Given the description of an element on the screen output the (x, y) to click on. 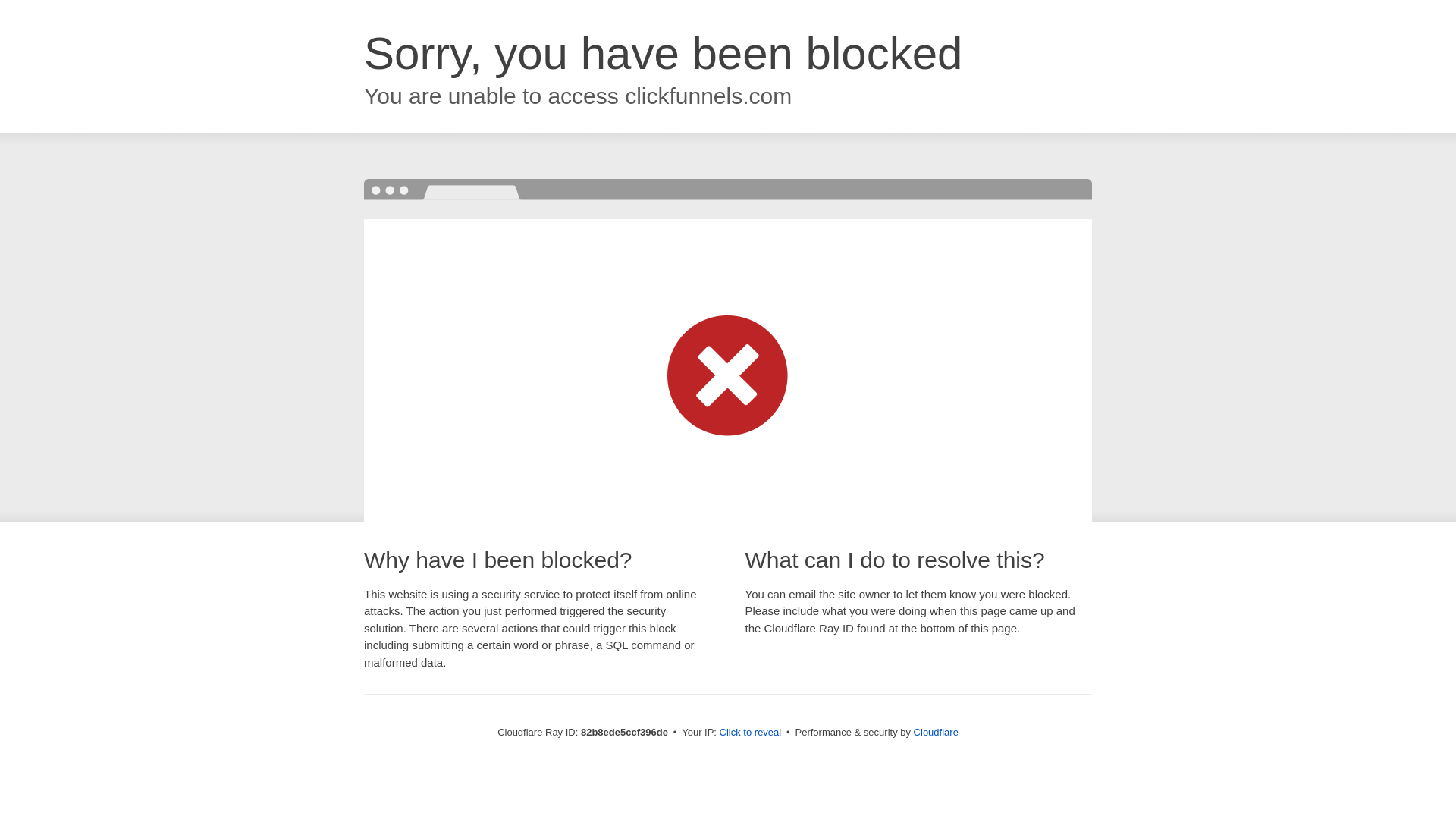
Cloudflare Element type: text (935, 731)
Click to reveal Element type: text (750, 732)
